Given the description of an element on the screen output the (x, y) to click on. 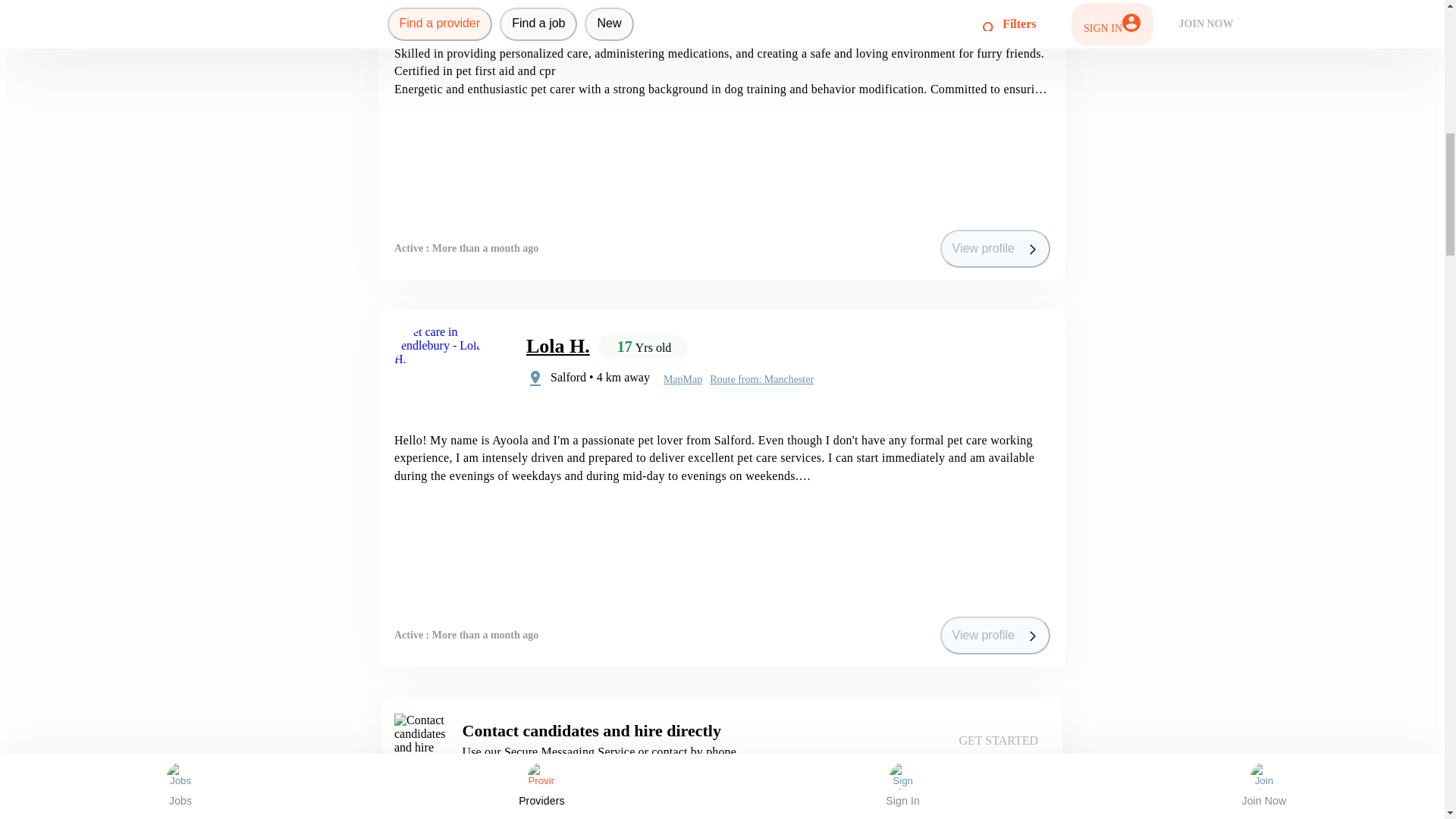
Route from: Manchester (761, 378)
GET STARTED (997, 740)
View profile (994, 248)
Lola H. (557, 345)
MapMap (682, 379)
View profile (994, 635)
